Given the description of an element on the screen output the (x, y) to click on. 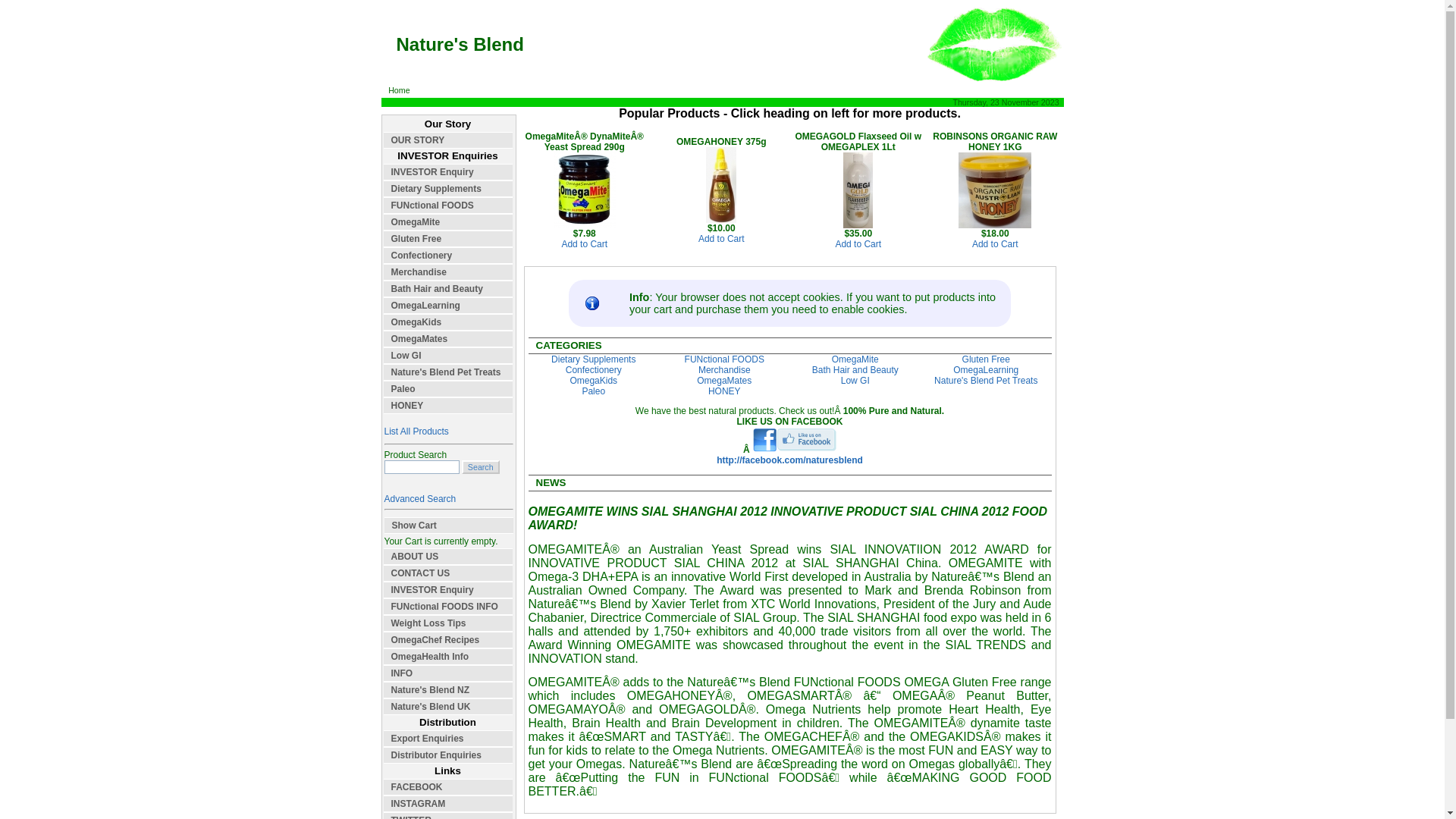
Distributor Enquiries Element type: text (447, 754)
Paleo Element type: text (593, 390)
INVESTOR Enquiry Element type: text (447, 589)
Confectionery Element type: text (447, 255)
OMEGAHONEY 375g Element type: hover (721, 219)
OmegaMite Element type: text (447, 221)
Nature's Blend Pet Treats Element type: text (447, 372)
OMEGAGOLD Flaxseed Oil w OMEGAPLEX 1Lt Element type: hover (857, 224)
Bath Hair and Beauty Element type: text (447, 288)
INVESTOR Enquiry Element type: text (447, 171)
Add to Cart Element type: text (584, 243)
Gluten Free Element type: text (986, 359)
OmegaMates Element type: text (447, 338)
Gluten Free Element type: text (447, 238)
Bath Hair and Beauty Element type: text (855, 369)
FUNctional FOODS Element type: text (724, 359)
List All Products Element type: text (415, 431)
Merchandise Element type: text (447, 271)
Nature's Blend Pet Treats Element type: text (985, 380)
ROBINSONS ORGANIC RAW HONEY  1KG Element type: hover (994, 224)
HONEY Element type: text (724, 390)
Add to Cart Element type: text (857, 243)
Dietary Supplements Element type: text (593, 359)
Advanced Search Element type: text (419, 498)
ABOUT US Element type: text (447, 556)
Weight Loss Tips Element type: text (447, 623)
OmegaKids Element type: text (593, 380)
FACEBOOK Element type: text (447, 786)
Export Enquiries Element type: text (447, 738)
Search Element type: text (480, 466)
OmegaLearning Element type: text (447, 305)
Merchandise Element type: text (724, 369)
Nature's Blend NZ Element type: text (447, 689)
OUR STORY Element type: text (447, 139)
http://facebook.com/naturesblend Element type: text (789, 460)
Nature's Blend UK Element type: text (447, 706)
Paleo Element type: text (447, 388)
OmegaHealth Info Element type: text (447, 656)
OmegaMite Element type: text (854, 359)
FUNctional FOODS Element type: text (447, 205)
CONTACT US Element type: text (447, 572)
Show Cart Element type: text (447, 525)
Add to Cart Element type: text (995, 243)
FUNctional FOODS INFO Element type: text (447, 606)
OmegaMates Element type: text (723, 380)
Confectionery Element type: text (593, 369)
INFO Element type: text (447, 673)
Dietary Supplements Element type: text (447, 188)
Low GI Element type: text (447, 355)
Add to Cart Element type: text (721, 238)
Search Element type: hover (420, 466)
OmegaKids Element type: text (447, 321)
OmegaLearning Element type: text (985, 369)
OmegaChef Recipes Element type: text (447, 639)
HONEY Element type: text (447, 405)
Low GI Element type: text (854, 380)
INSTAGRAM Element type: text (447, 803)
